Given the description of an element on the screen output the (x, y) to click on. 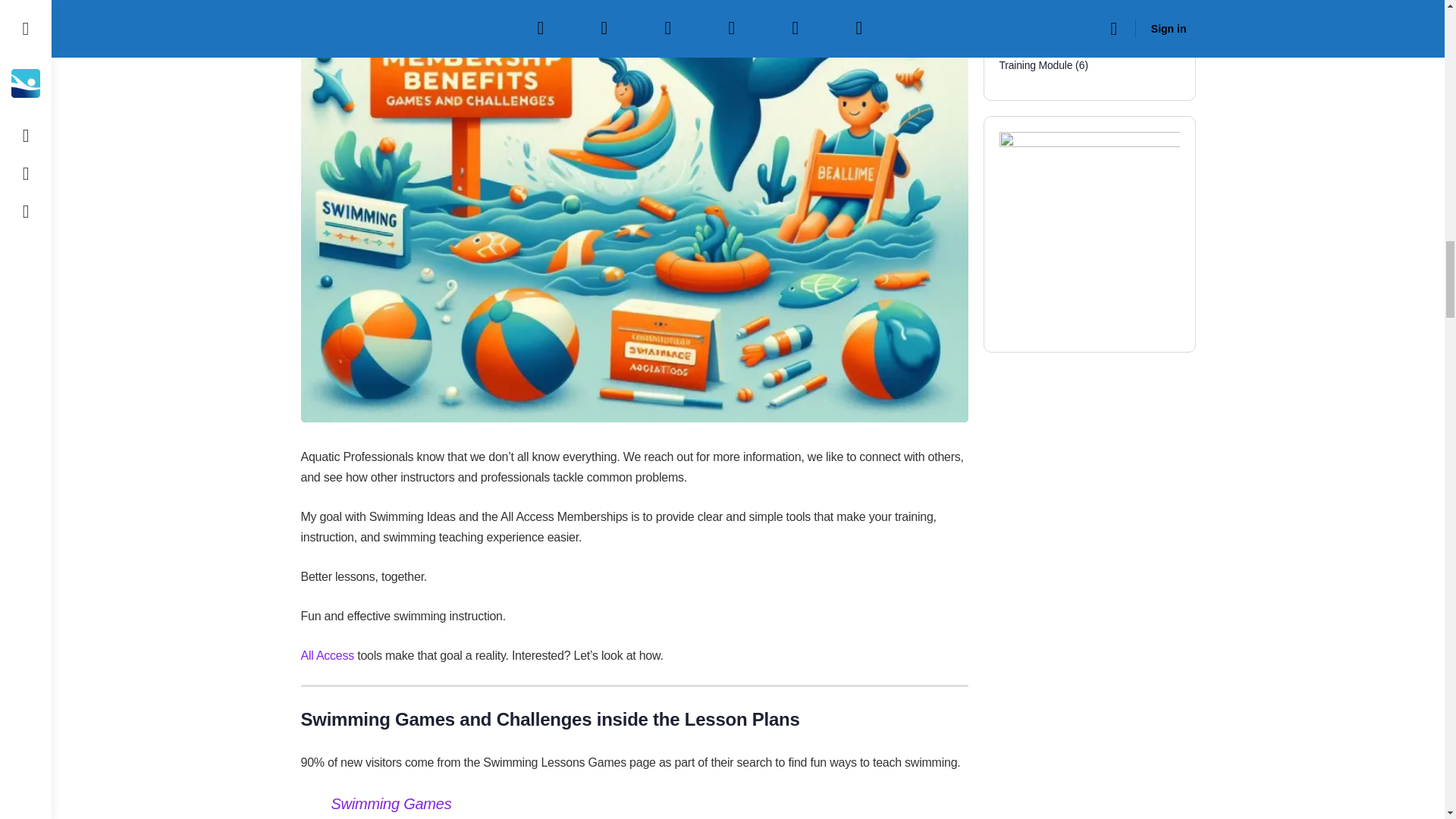
All Access (326, 655)
